Given the description of an element on the screen output the (x, y) to click on. 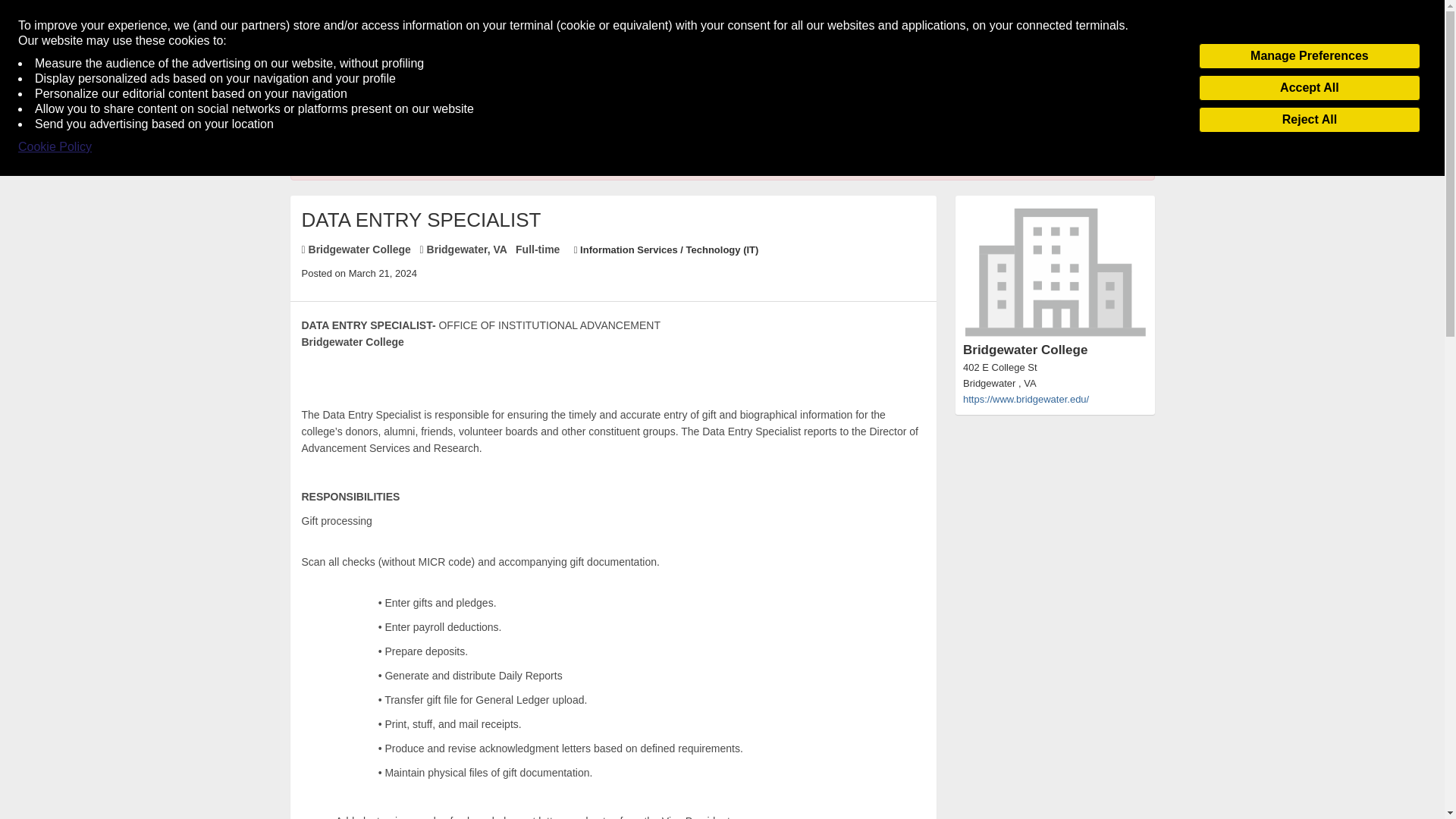
Reject All (1309, 119)
Cookie Policy (54, 146)
JOBS (339, 91)
jobs (318, 38)
Manage Preferences (1309, 55)
Back to Results (329, 125)
Bridgewater College (1054, 288)
Accept All (1309, 87)
EMPLOYER LOGIN (988, 91)
POST A JOB (1111, 91)
